Given the description of an element on the screen output the (x, y) to click on. 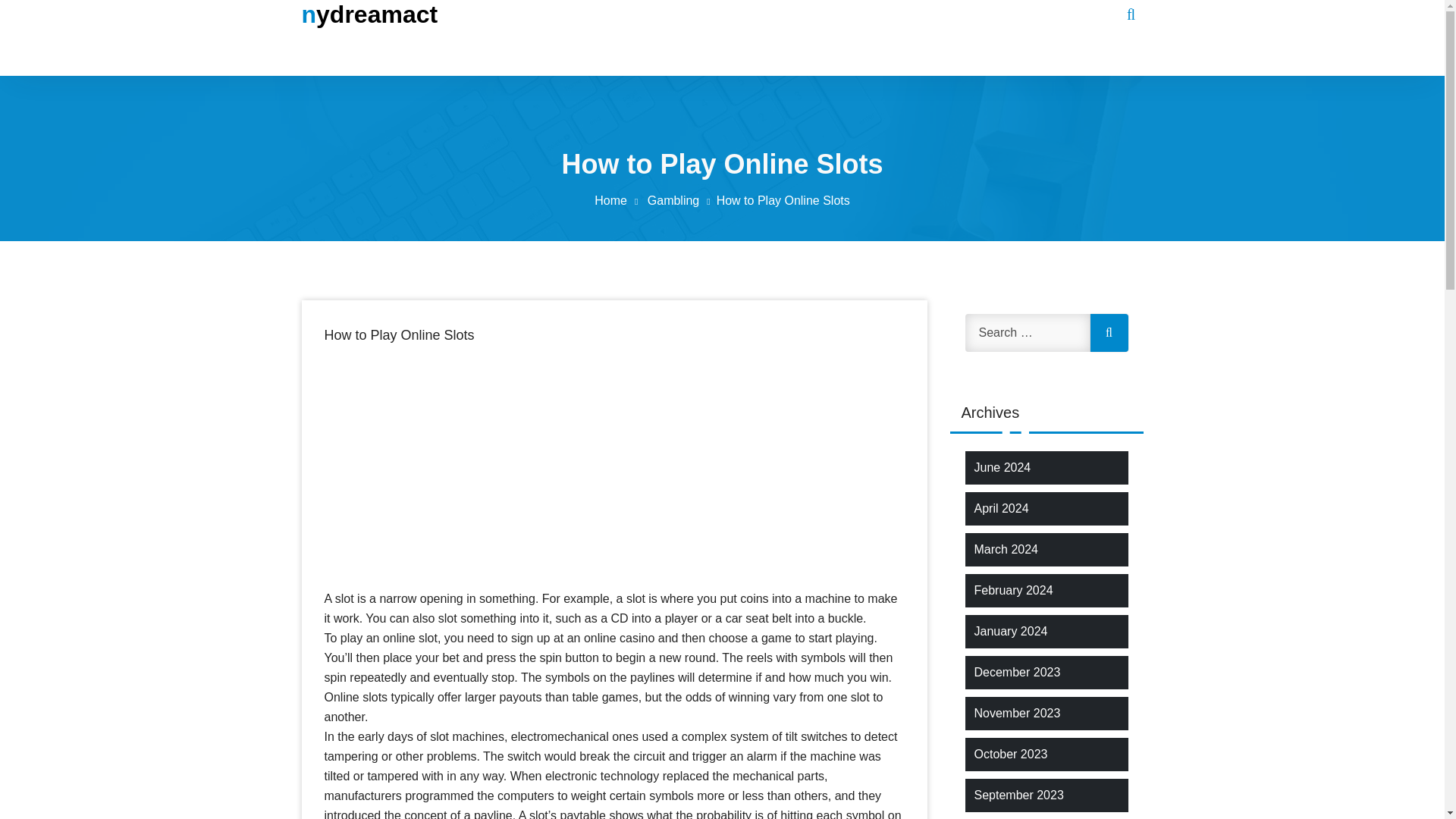
June 2024 (1002, 467)
January 2024 (1010, 631)
Gambling (681, 200)
March 2024 (1006, 549)
February 2024 (1013, 590)
nydreamact (369, 14)
April 2024 (1000, 508)
September 2023 (1018, 795)
December 2023 (1016, 672)
October 2023 (1010, 754)
Home (618, 200)
November 2023 (1016, 713)
